Given the description of an element on the screen output the (x, y) to click on. 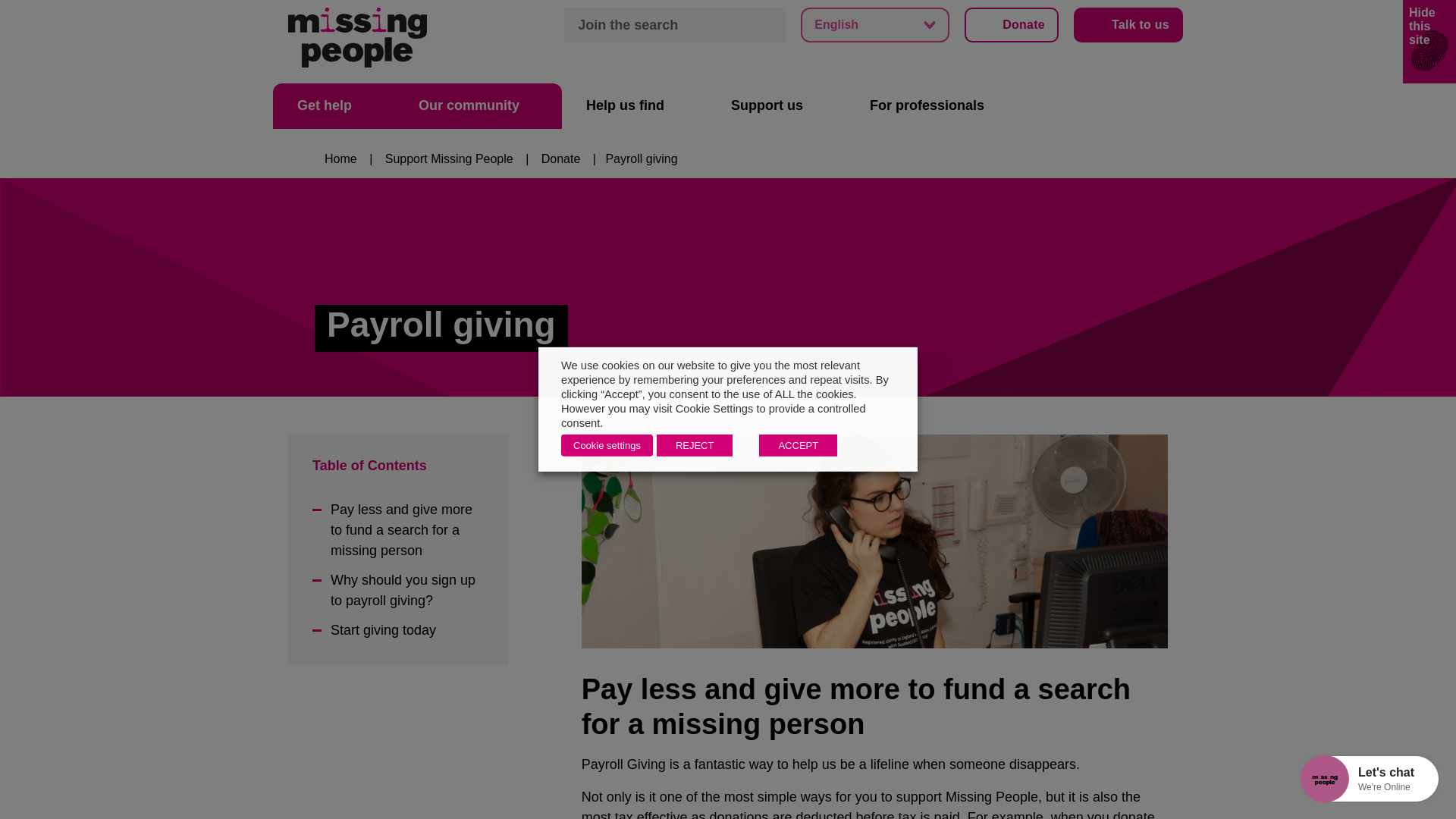
Talk to us (1128, 24)
Our community (478, 105)
Get help (333, 105)
Donate (1010, 24)
Search for: (675, 24)
Help us find (634, 105)
For professionals (935, 105)
Missing People (357, 37)
Support us (775, 105)
Search (768, 24)
Chat Widget (1300, 777)
